Given the description of an element on the screen output the (x, y) to click on. 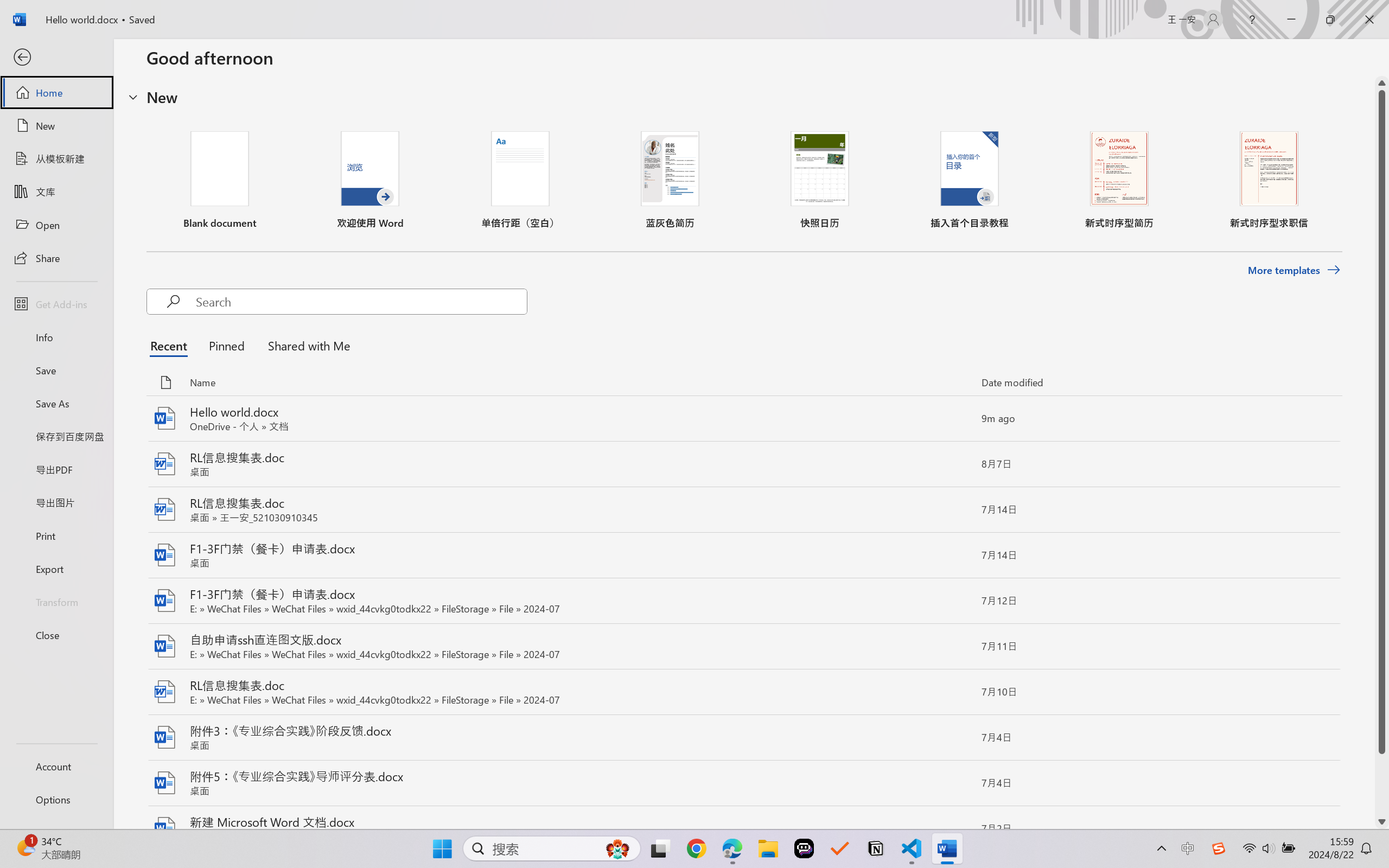
Hello world.docx (743, 418)
Class: NetUIScrollBar (1382, 452)
Page down (1382, 784)
Print (56, 535)
Home (56, 92)
More templates (1293, 270)
Close (56, 634)
Pinned (226, 345)
Line down (1382, 821)
